Given the description of an element on the screen output the (x, y) to click on. 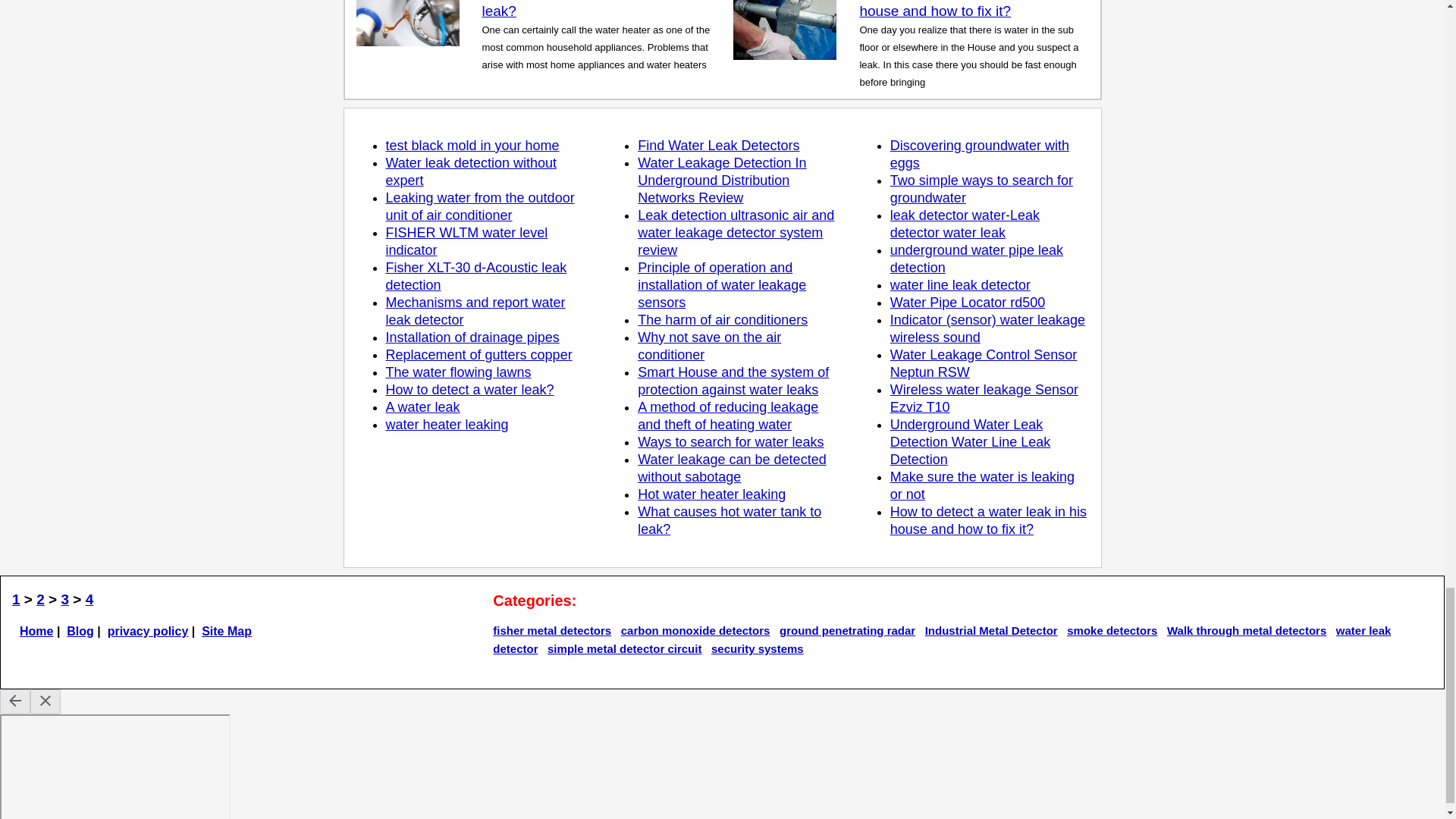
Water leak detection without expert (470, 171)
Leaking water from the outdoor unit of air conditioner (479, 206)
Fisher XLT-30 d-Acoustic leak detection (475, 276)
FISHER WLTM water level indicator (466, 241)
How to detect a water leak in his house and how to fix it? (963, 9)
What causes hot water tank to leak? (579, 9)
test black mold in your home (472, 145)
